Given the description of an element on the screen output the (x, y) to click on. 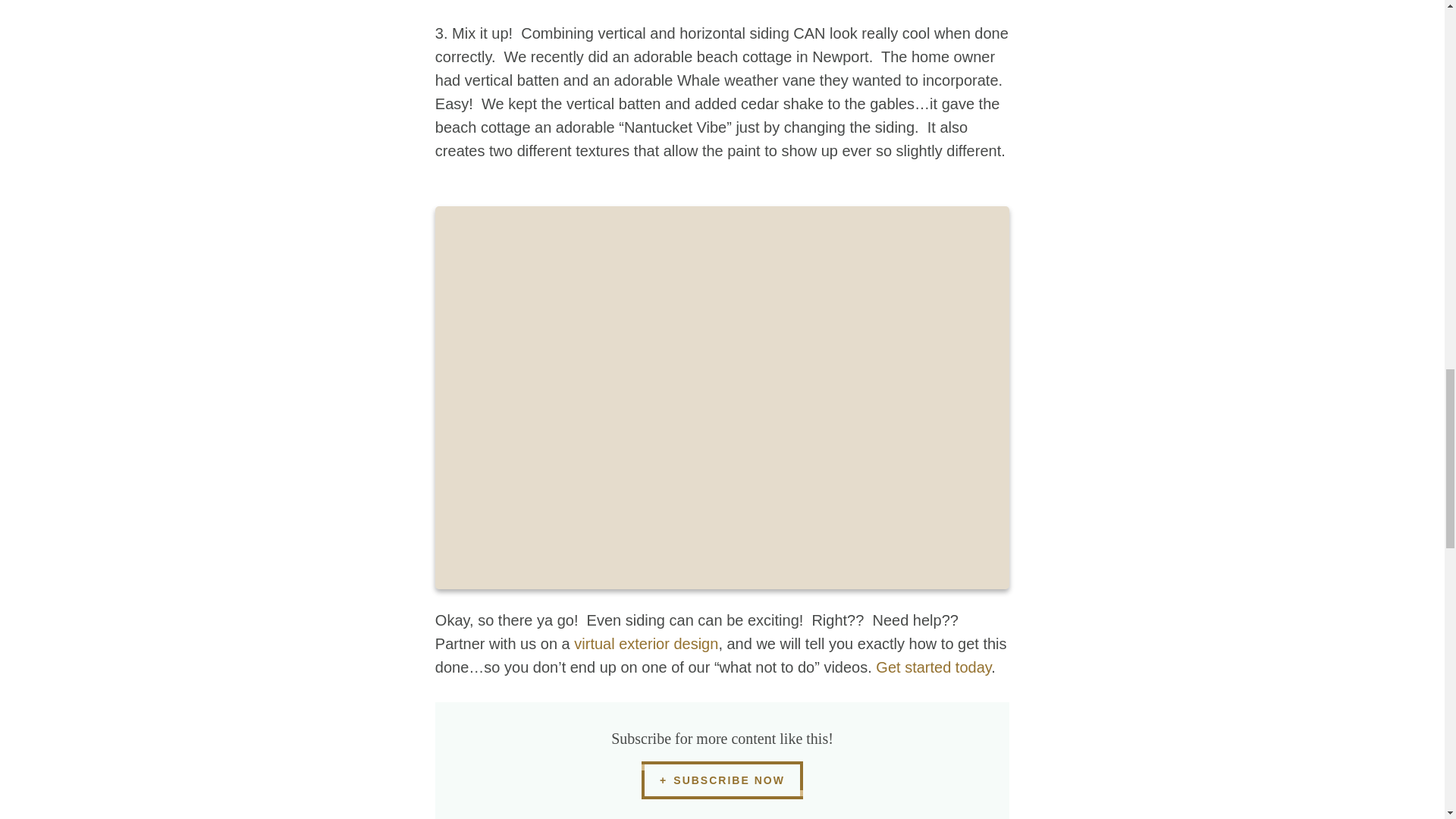
SUBSCRIBE NOW (722, 780)
virtual exterior design (645, 643)
Get started today (933, 667)
